Given the description of an element on the screen output the (x, y) to click on. 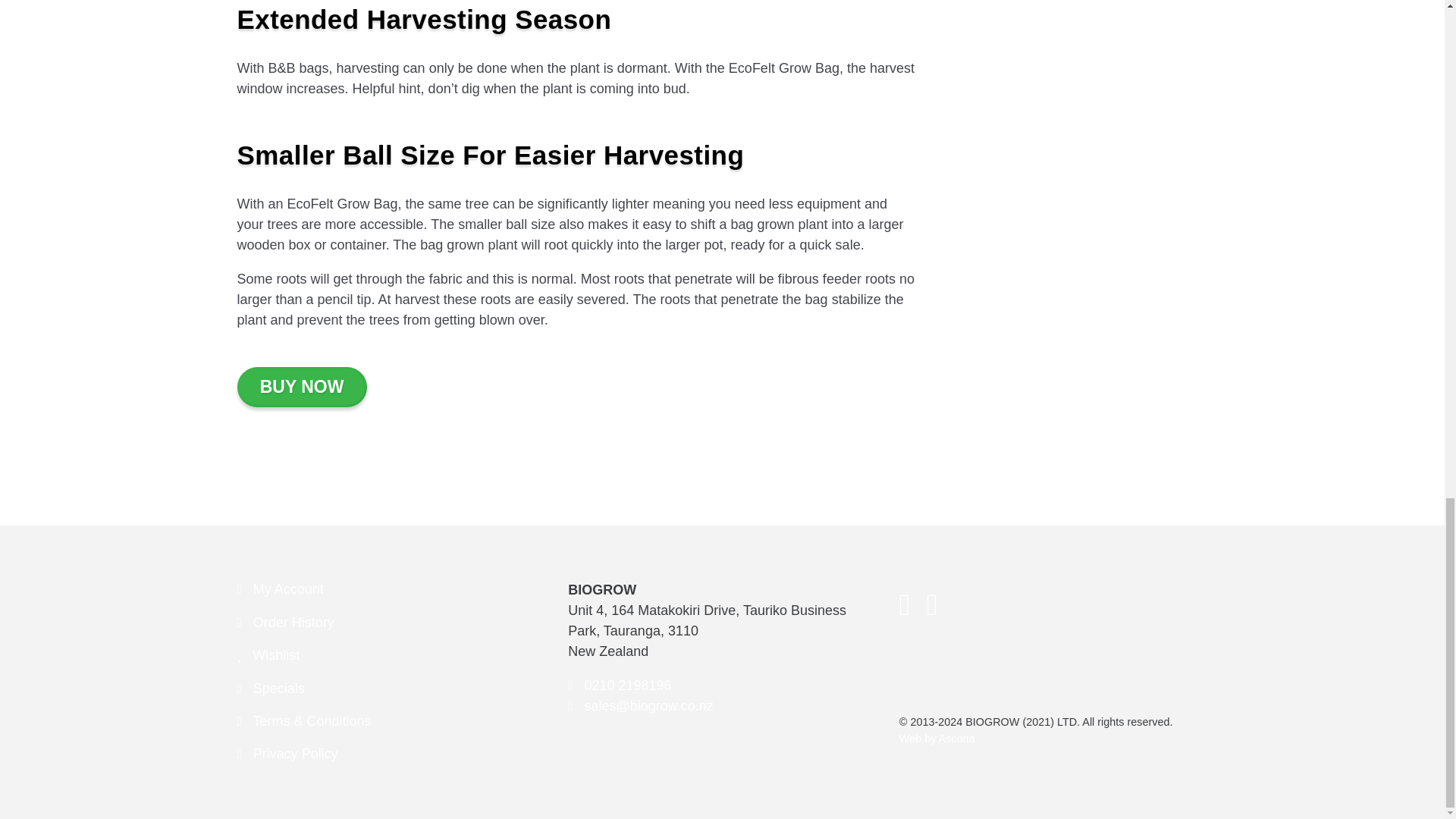
Ascona -  One stop shop for web design and hosting (938, 738)
